Given the description of an element on the screen output the (x, y) to click on. 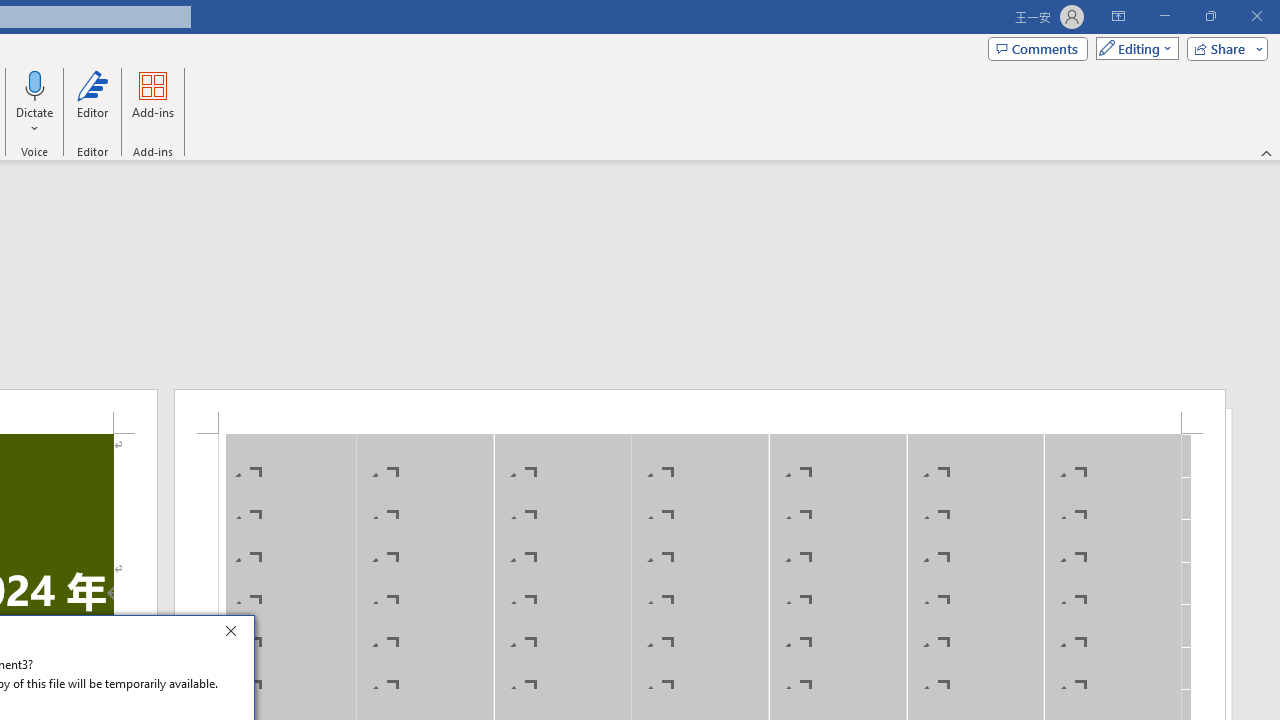
Collapse the Ribbon (1267, 152)
